Given the description of an element on the screen output the (x, y) to click on. 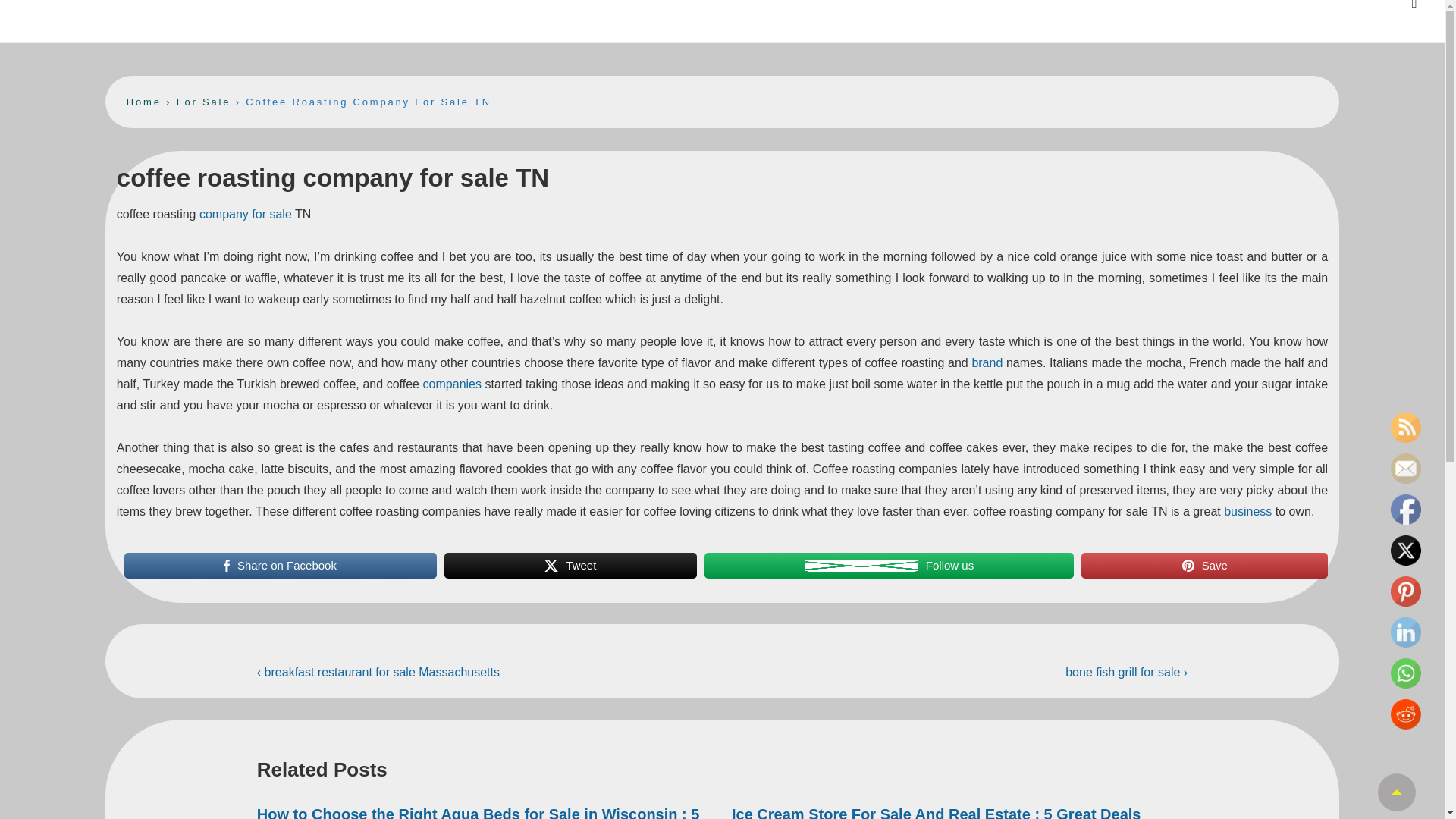
Home (143, 101)
Ice Cream Store For Sale And Real Estate : 5 Great Deals (936, 812)
Follow us (889, 565)
coffee roasting company for sale TN 4 (1187, 565)
company (223, 214)
coffee roasting company for sale TN 2 (550, 565)
Scroll to Top (1396, 792)
Facebook (1405, 509)
Share on Facebook (279, 565)
Follow by Email (1405, 468)
For Sale (203, 101)
Top (1396, 792)
Twitter (1405, 550)
Save (1204, 565)
